Given the description of an element on the screen output the (x, y) to click on. 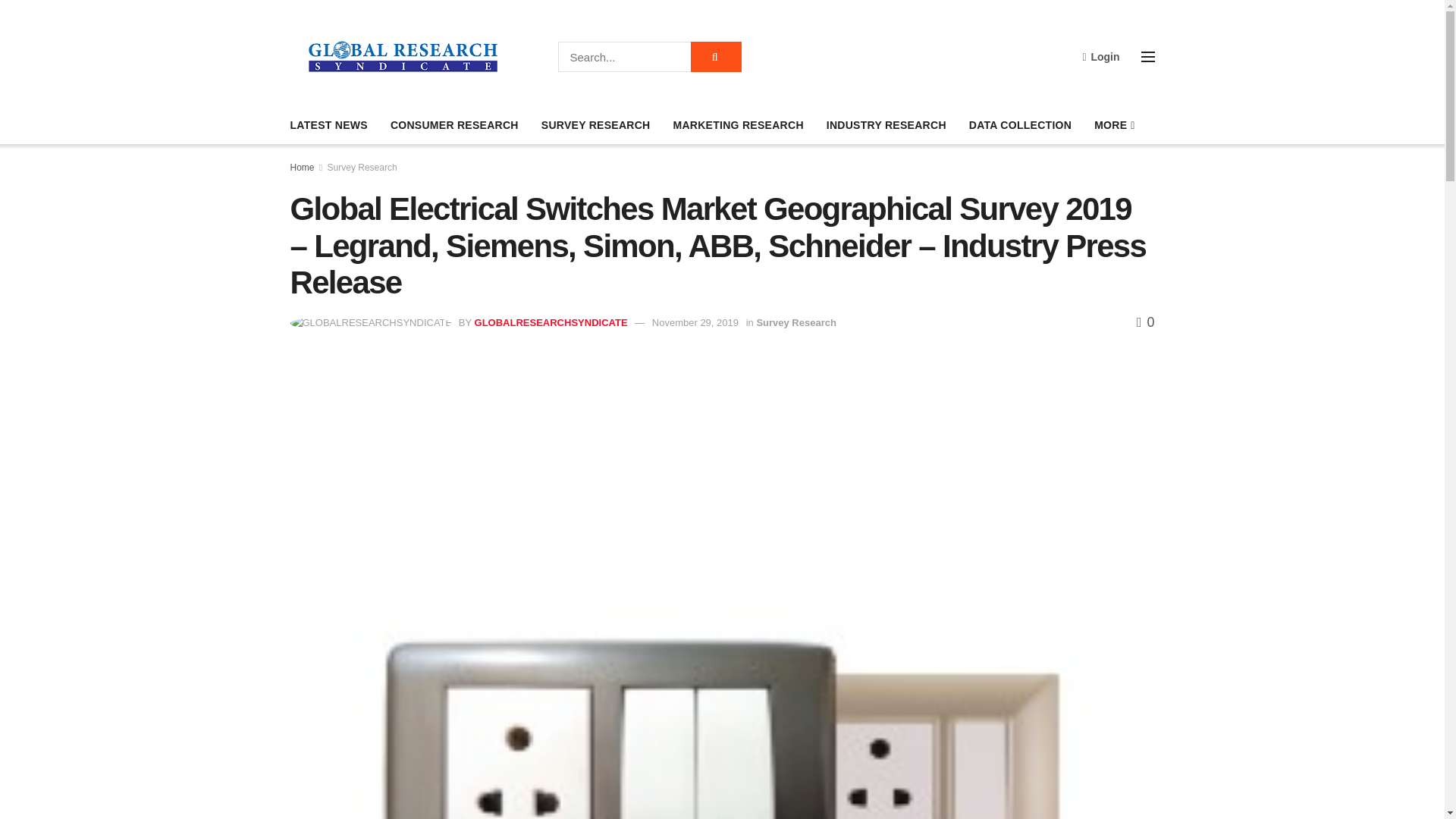
DATA COLLECTION (1020, 124)
November 29, 2019 (695, 322)
MORE (1113, 124)
Login (1100, 56)
Survey Research (795, 322)
SURVEY RESEARCH (595, 124)
MARKETING RESEARCH (737, 124)
LATEST NEWS (327, 124)
Survey Research (362, 167)
CONSUMER RESEARCH (454, 124)
